Given the description of an element on the screen output the (x, y) to click on. 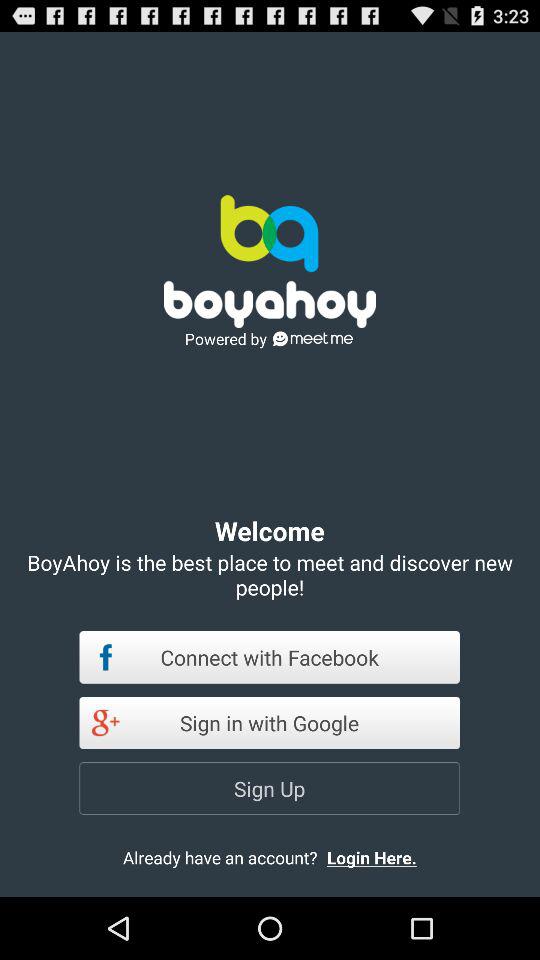
turn off item below the connect with facebook item (269, 722)
